Given the description of an element on the screen output the (x, y) to click on. 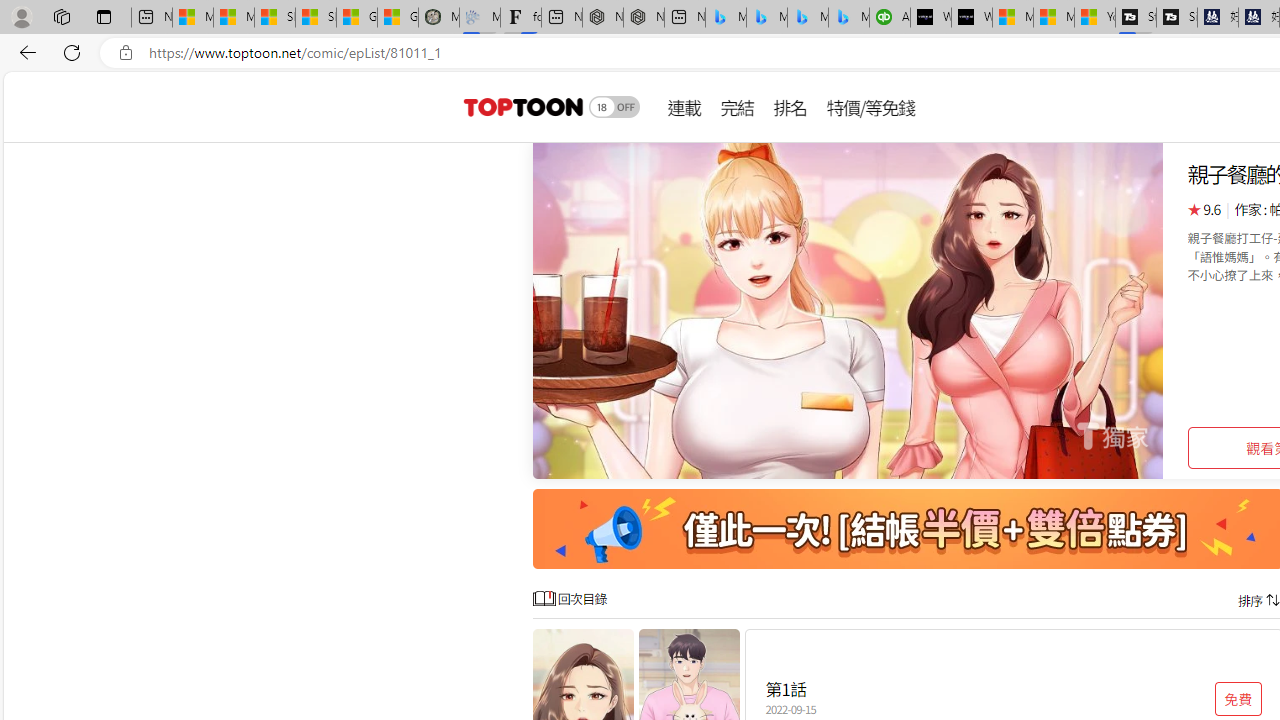
Class: swiper-slide (847, 310)
Manatee Mortality Statistics | FWC (438, 17)
Streaming Coverage | T3 (1135, 17)
